Given the description of an element on the screen output the (x, y) to click on. 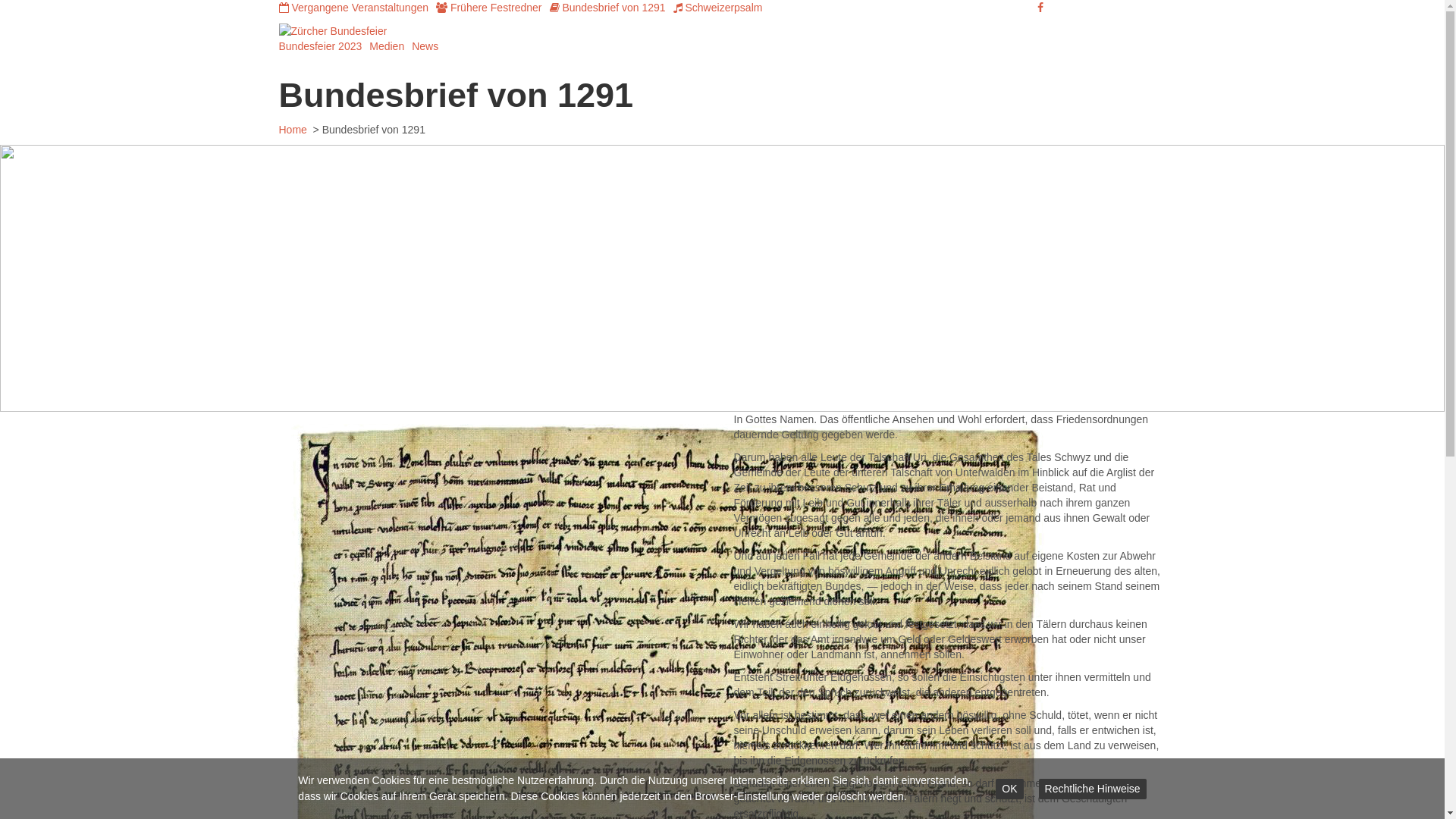
Bundesfeier 2023 Element type: text (320, 46)
Vergangene Veranstaltungen Element type: text (354, 7)
Home  Element type: text (294, 129)
Rechtliche Hinweise Element type: text (1092, 788)
OK Element type: text (1008, 788)
Schweizerpsalm Element type: text (717, 7)
News Element type: text (424, 46)
Medien Element type: text (386, 46)
Bundesbrief von 1291 Element type: text (607, 7)
